Given the description of an element on the screen output the (x, y) to click on. 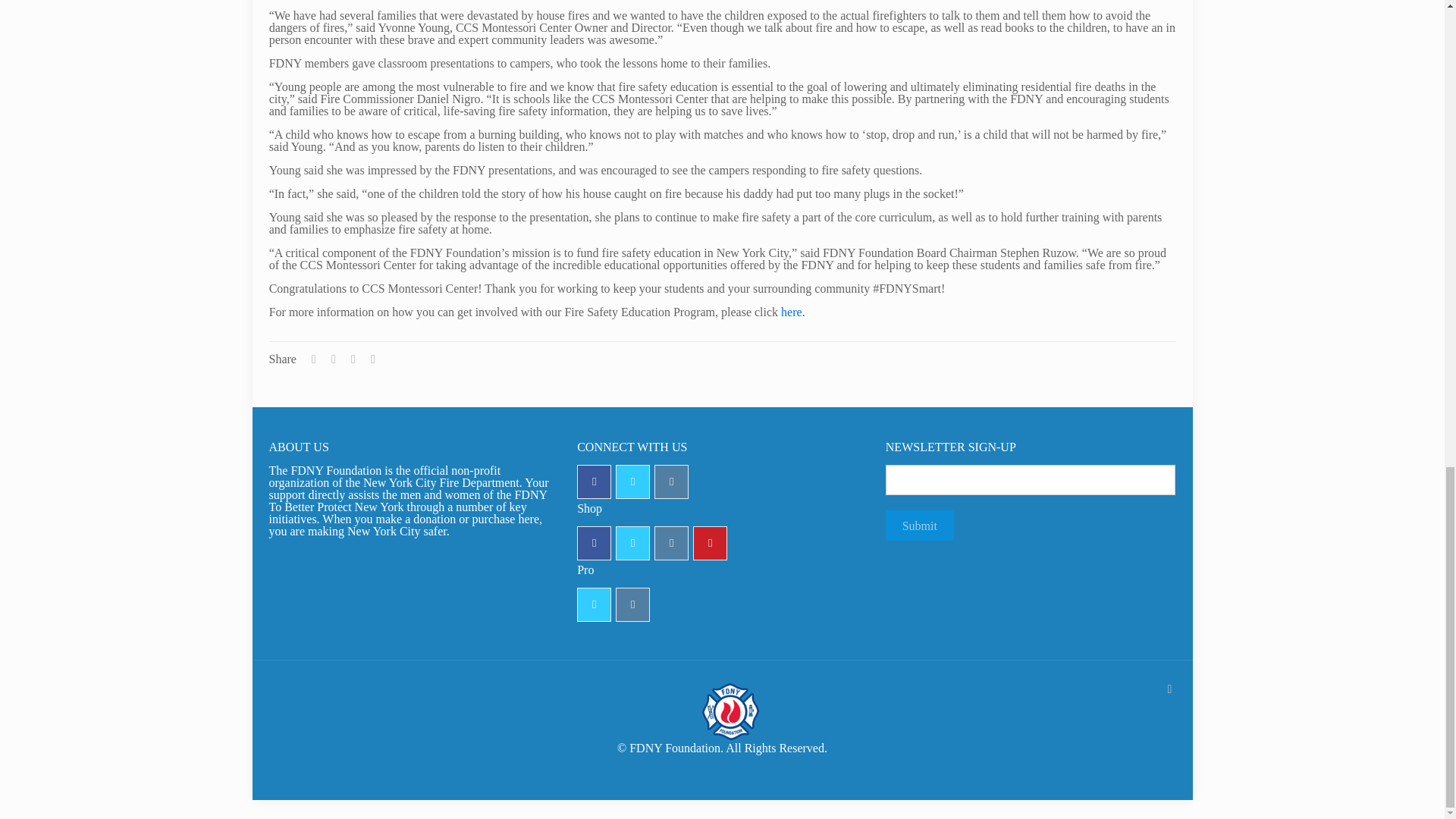
here. (792, 311)
Submit (919, 525)
Submit (919, 525)
